Given the description of an element on the screen output the (x, y) to click on. 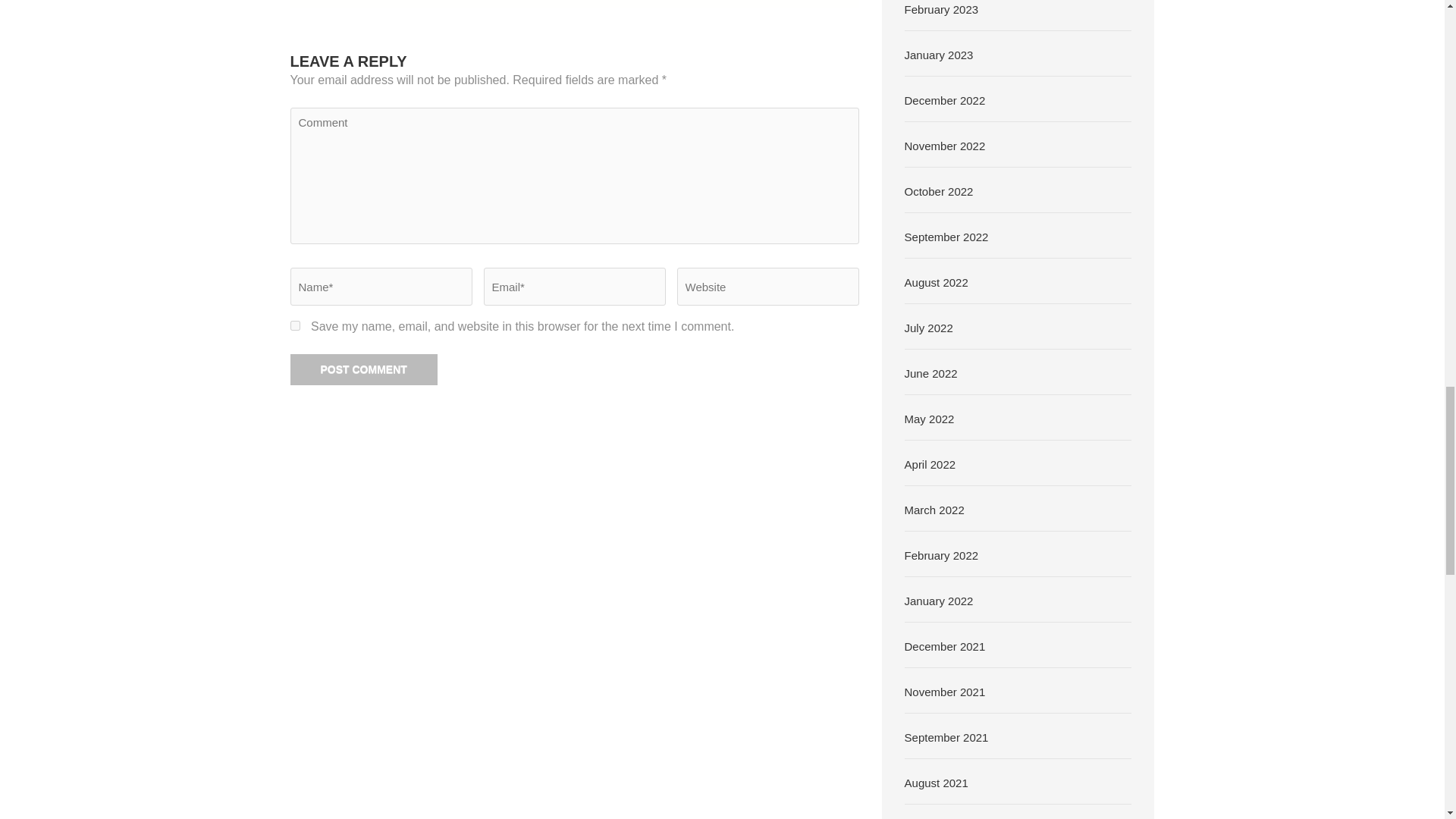
Post Comment (362, 368)
yes (294, 325)
Post Comment (362, 368)
